Given the description of an element on the screen output the (x, y) to click on. 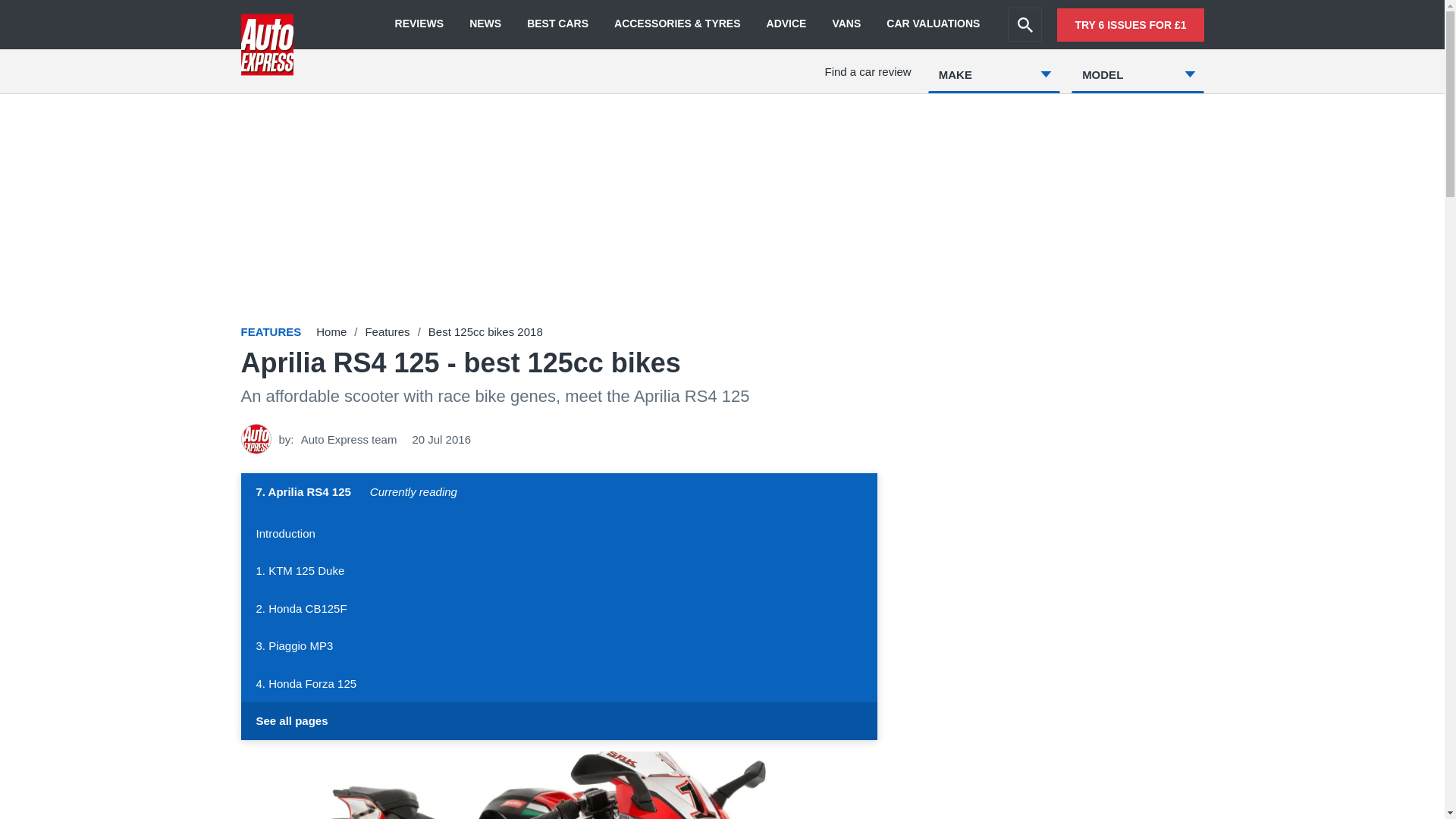
Button (559, 720)
Button (559, 494)
VANS (845, 24)
ADVICE (786, 24)
CAR VALUATIONS (932, 24)
NEWS (485, 24)
BEST CARS (557, 24)
Search (1024, 24)
REVIEWS (419, 24)
Search (1024, 24)
